Given the description of an element on the screen output the (x, y) to click on. 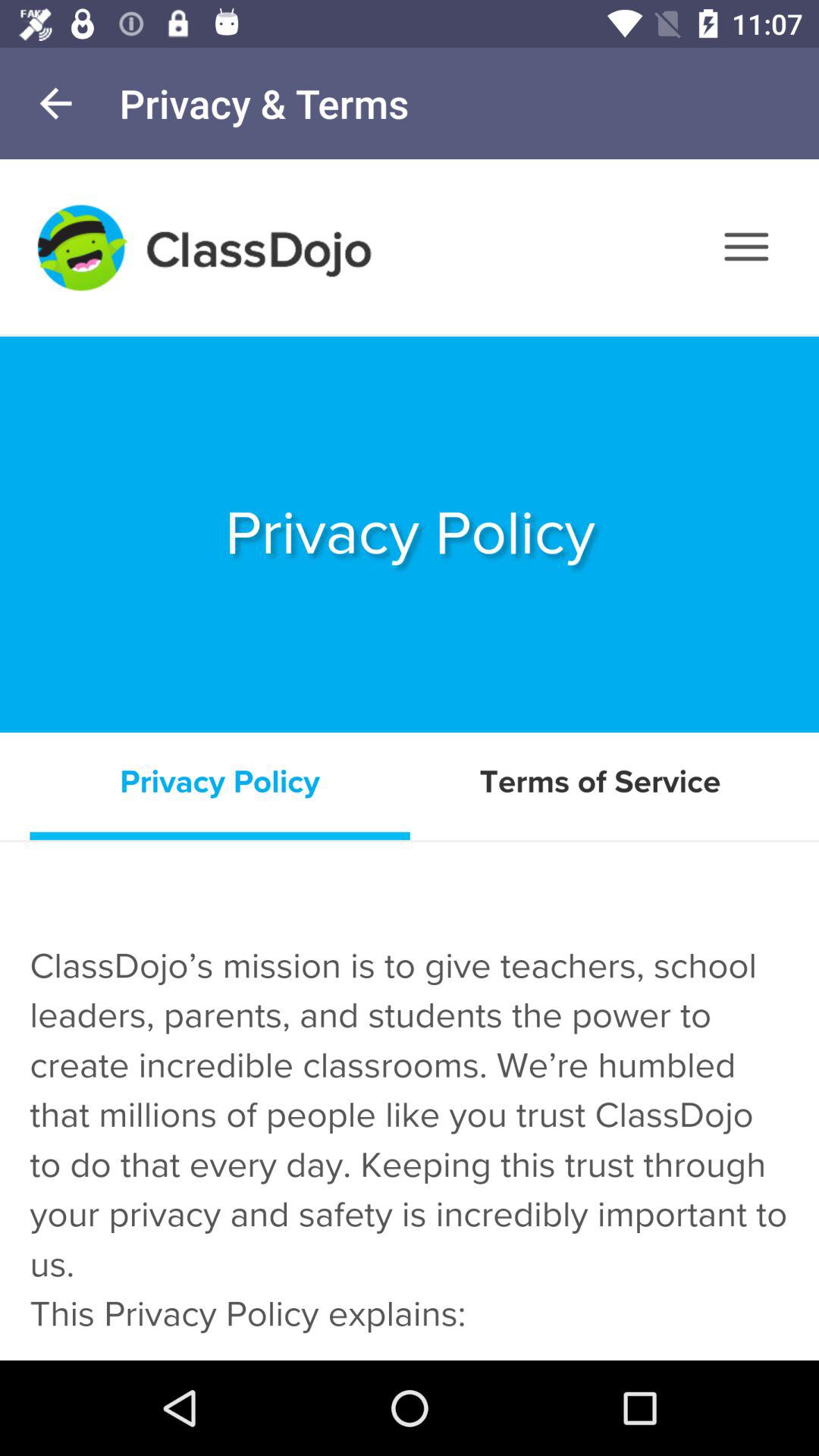
color print (409, 759)
